Given the description of an element on the screen output the (x, y) to click on. 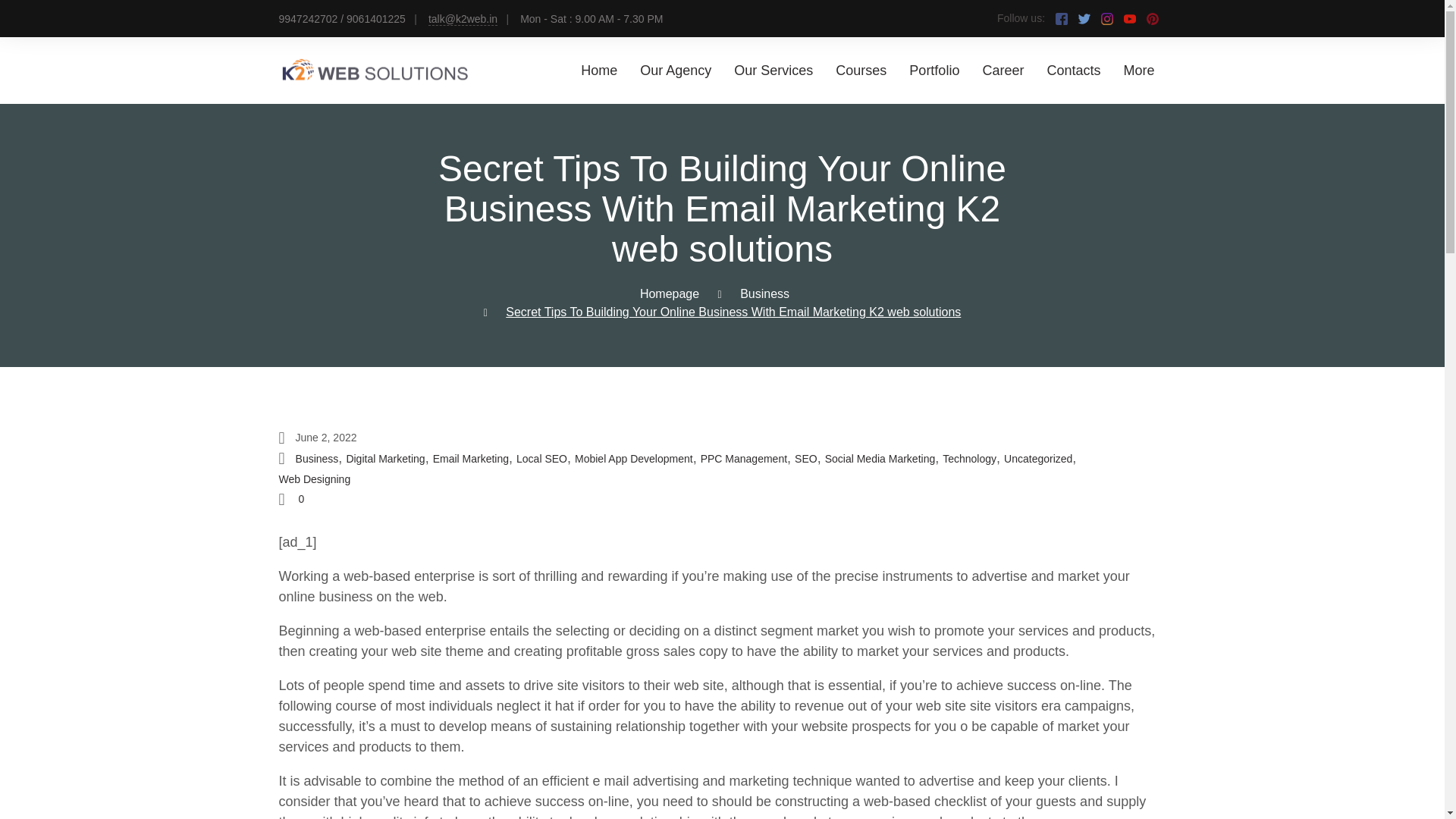
More (1138, 69)
Contacts (1073, 69)
Homepage (669, 293)
Portfolio (933, 69)
Our Services (772, 69)
Our Agency (675, 69)
Business (317, 458)
Career (1002, 69)
Business (764, 293)
Home (598, 69)
Courses (860, 69)
